Given the description of an element on the screen output the (x, y) to click on. 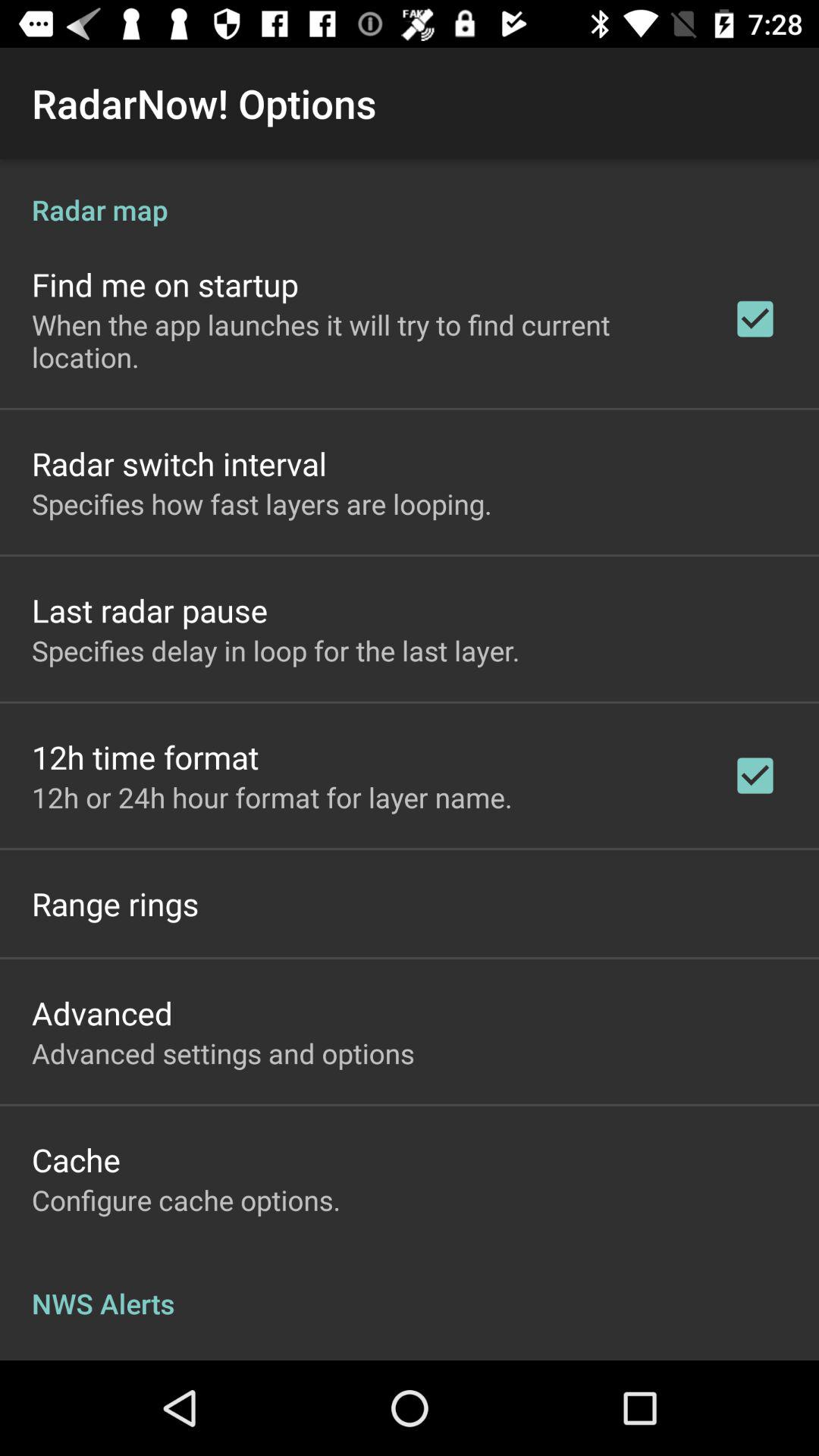
swipe until the find me on item (164, 283)
